Given the description of an element on the screen output the (x, y) to click on. 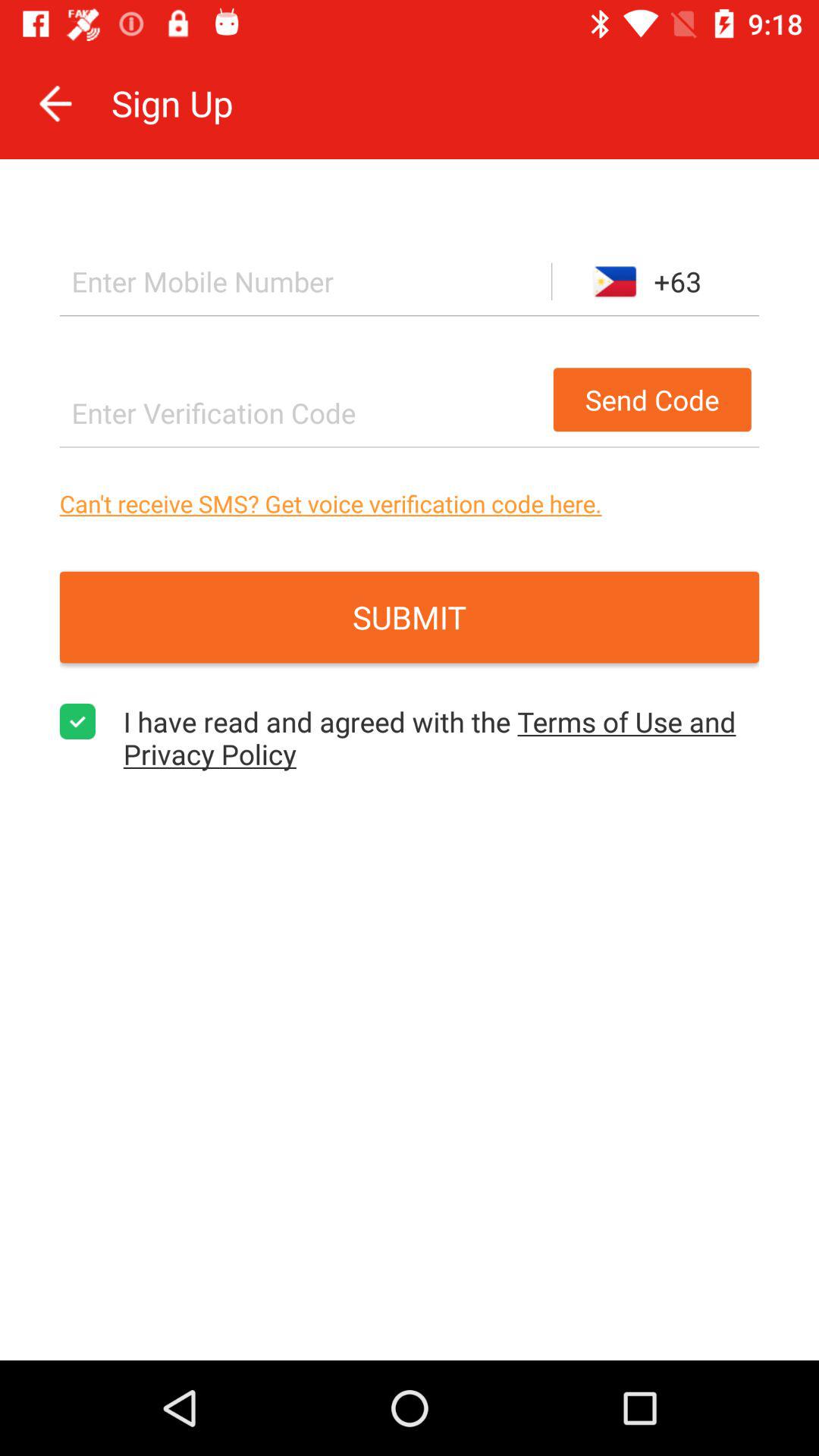
scroll to the +63 icon (655, 281)
